Given the description of an element on the screen output the (x, y) to click on. 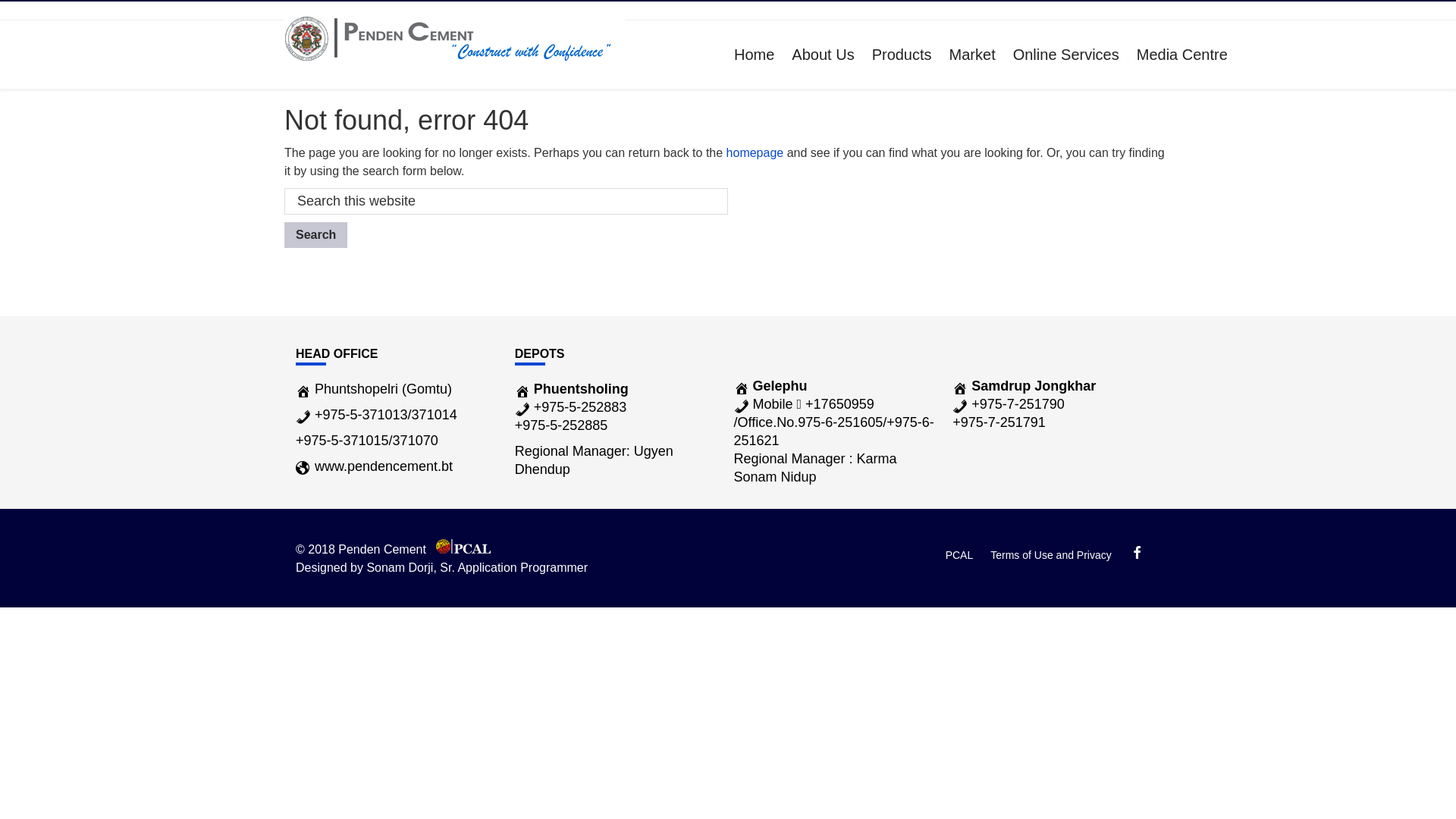
Products Element type: text (902, 54)
Online Services Element type: text (1066, 54)
Search Element type: text (315, 234)
Market Element type: text (972, 54)
About Us Element type: text (822, 54)
Skip to primary navigation Element type: text (0, 0)
Home Element type: text (754, 54)
Sonam Dorji, Sr. Application Programmer Element type: text (476, 567)
homepage Element type: text (755, 152)
Media Centre Element type: text (1181, 54)
PCAL Element type: text (959, 554)
Terms of Use and Privacy Element type: text (1050, 554)
